Given the description of an element on the screen output the (x, y) to click on. 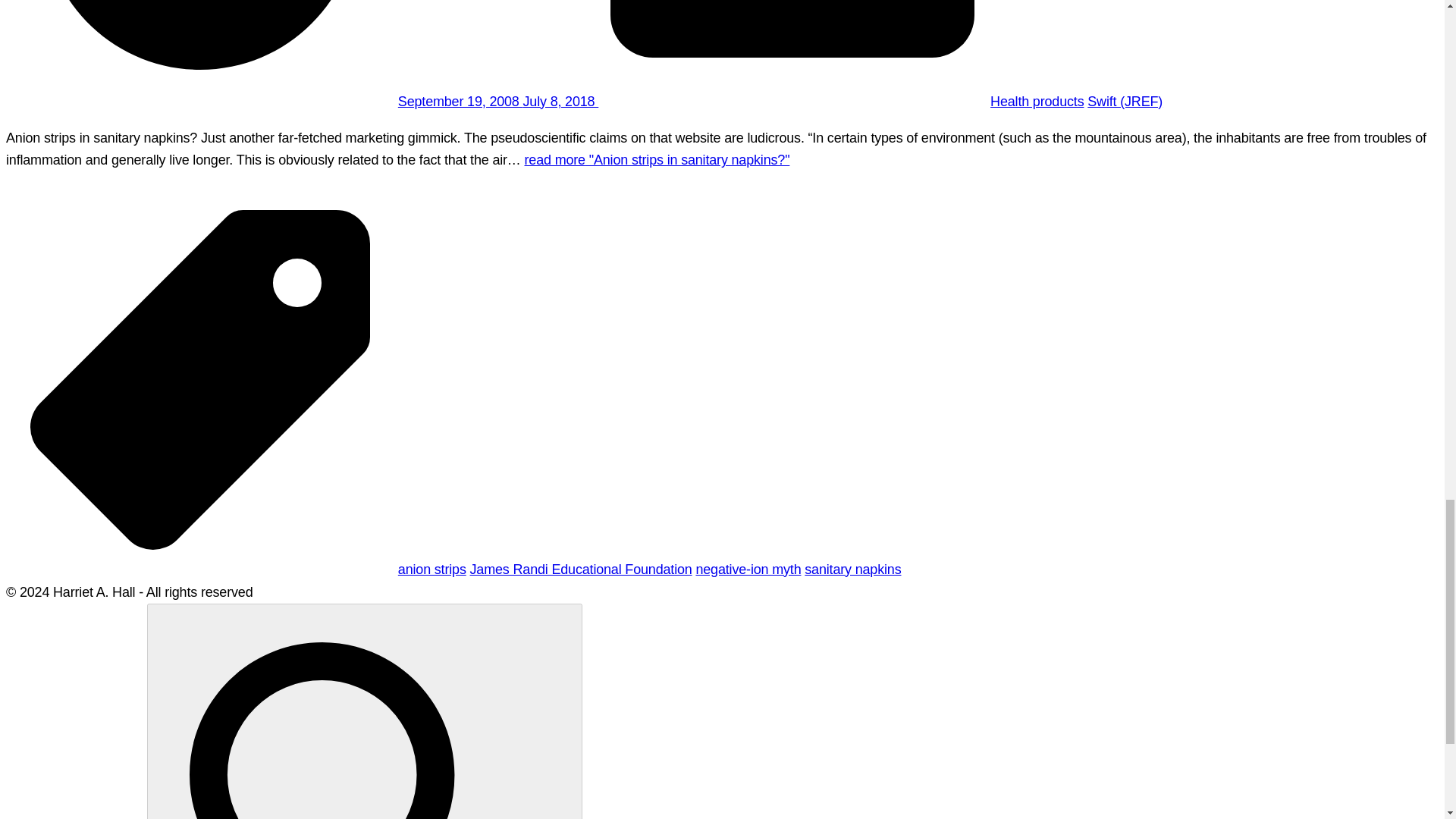
Health products (1036, 101)
read more "Anion strips in sanitary napkins?" (657, 159)
Search (364, 711)
September 19, 2008 July 8, 2018 (497, 101)
anion strips (431, 569)
sanitary napkins (853, 569)
negative-ion myth (747, 569)
James Randi Educational Foundation (581, 569)
